Given the description of an element on the screen output the (x, y) to click on. 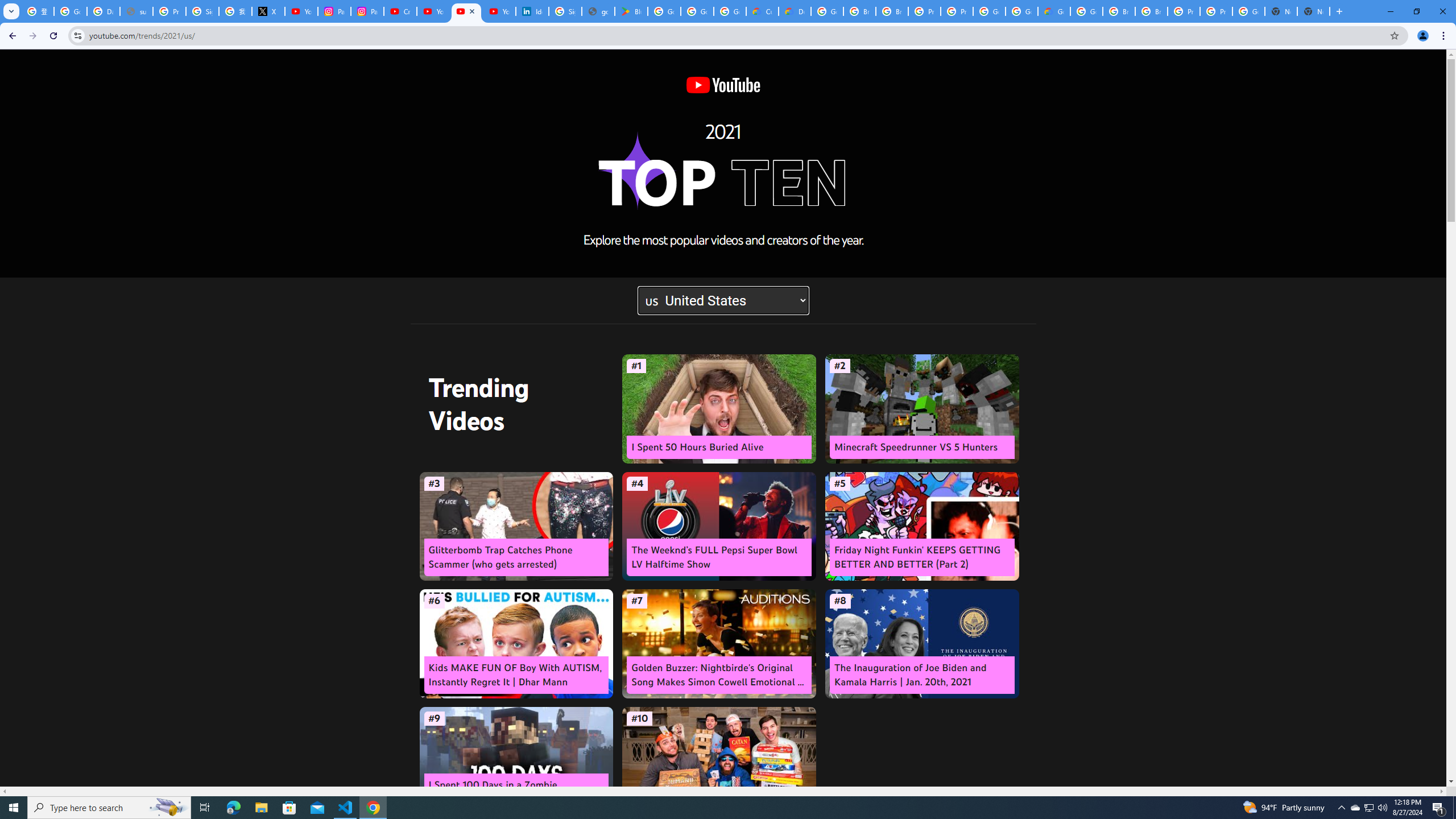
support.google.com - Network error (136, 11)
Google Cloud Platform (989, 11)
Bluey: Let's Play! - Apps on Google Play (631, 11)
